Given the description of an element on the screen output the (x, y) to click on. 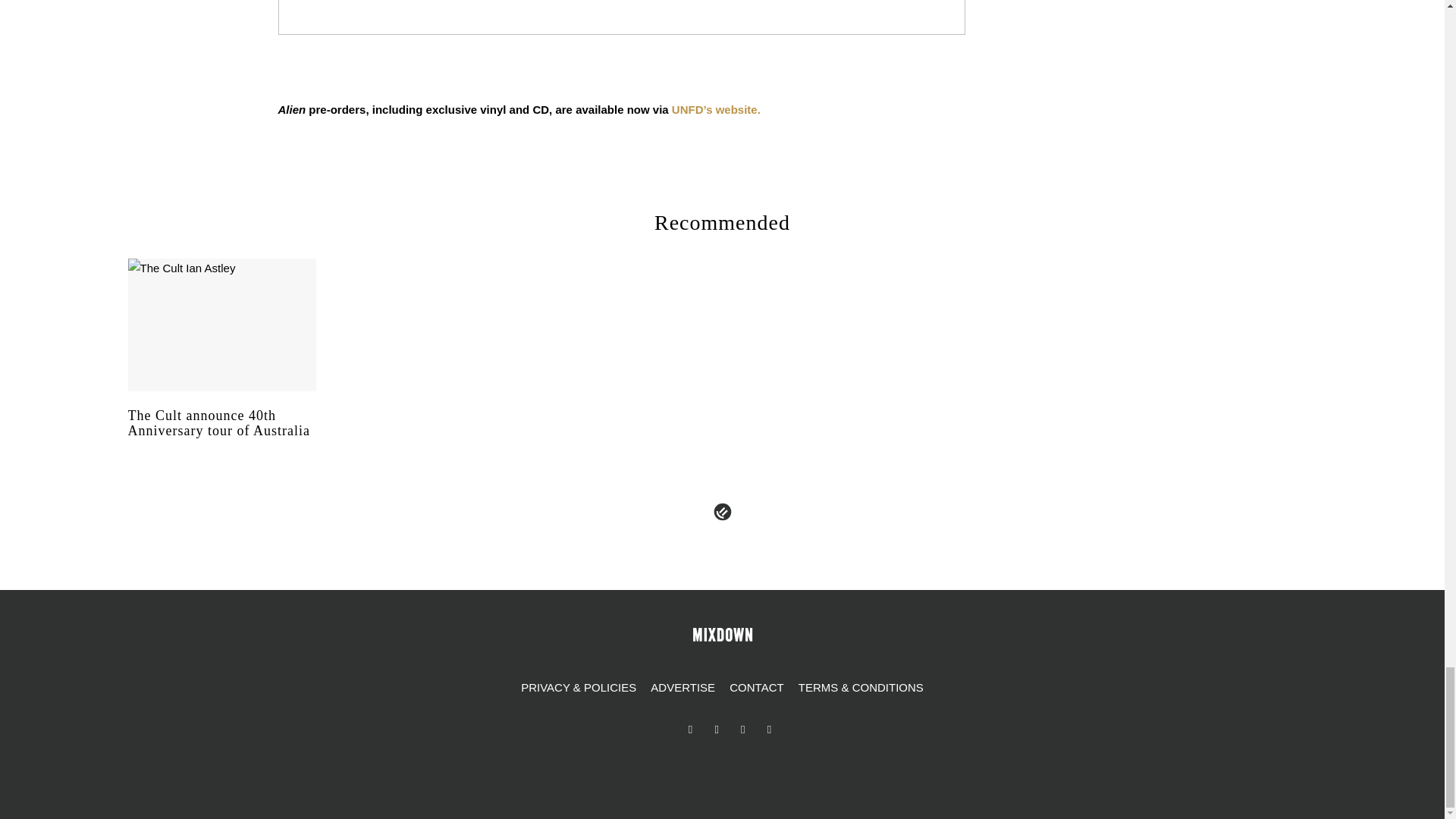
The Cult announce 40th Anniversary tour of Australia (221, 436)
CONTACT (756, 687)
ADVERTISE (682, 687)
